Given the description of an element on the screen output the (x, y) to click on. 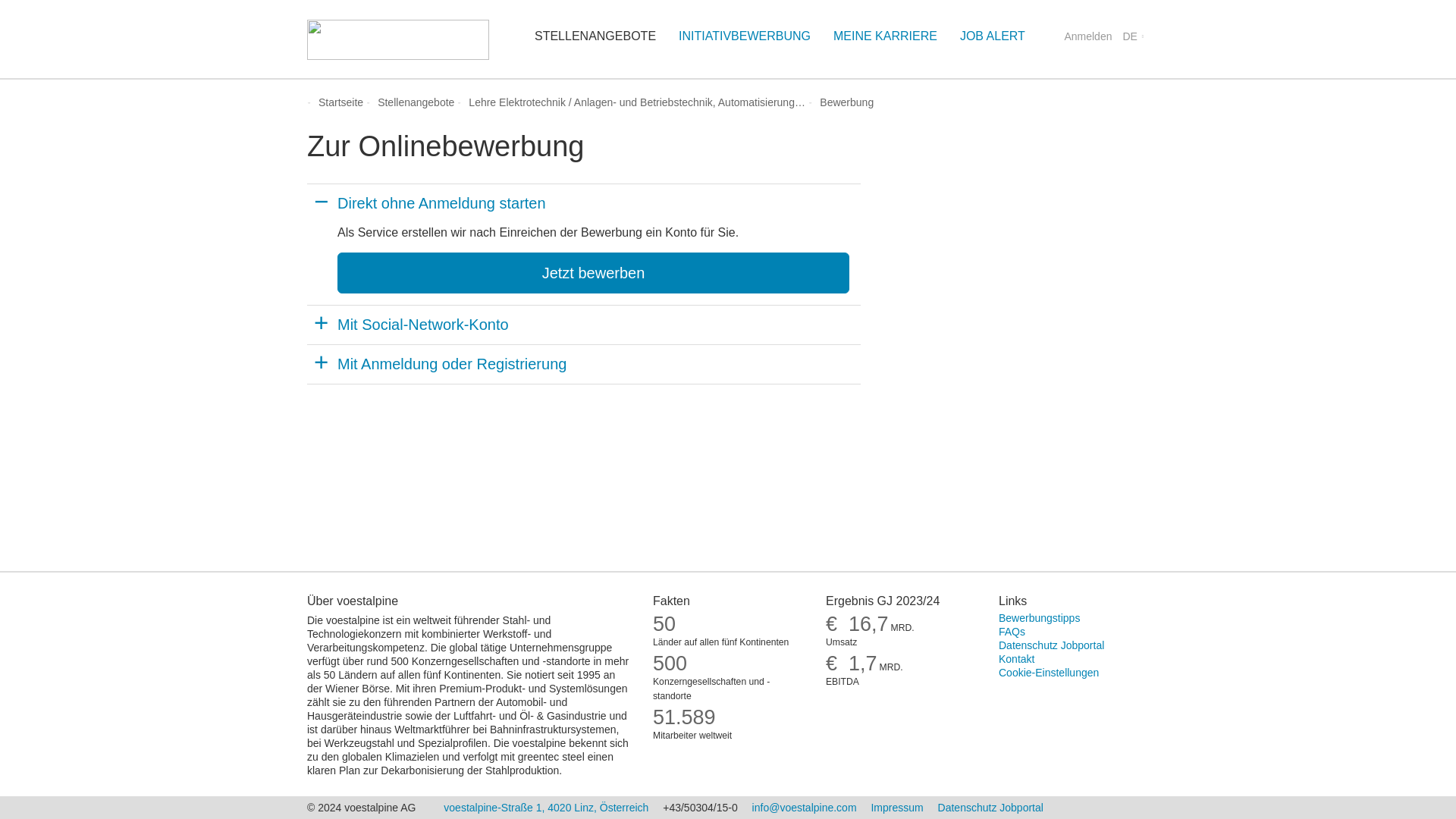
Anmelden (1087, 37)
Jetzt bewerben (592, 272)
Mit Social-Network-Konto (583, 324)
Startseite (340, 102)
Startseite (340, 102)
JOB ALERT (992, 37)
Direkt ohne Anmeldung starten (583, 203)
Bewerbung (846, 102)
Zum Inhalt (1132, 37)
Deutsch - Sprache wechseln (885, 37)
